Given the description of an element on the screen output the (x, y) to click on. 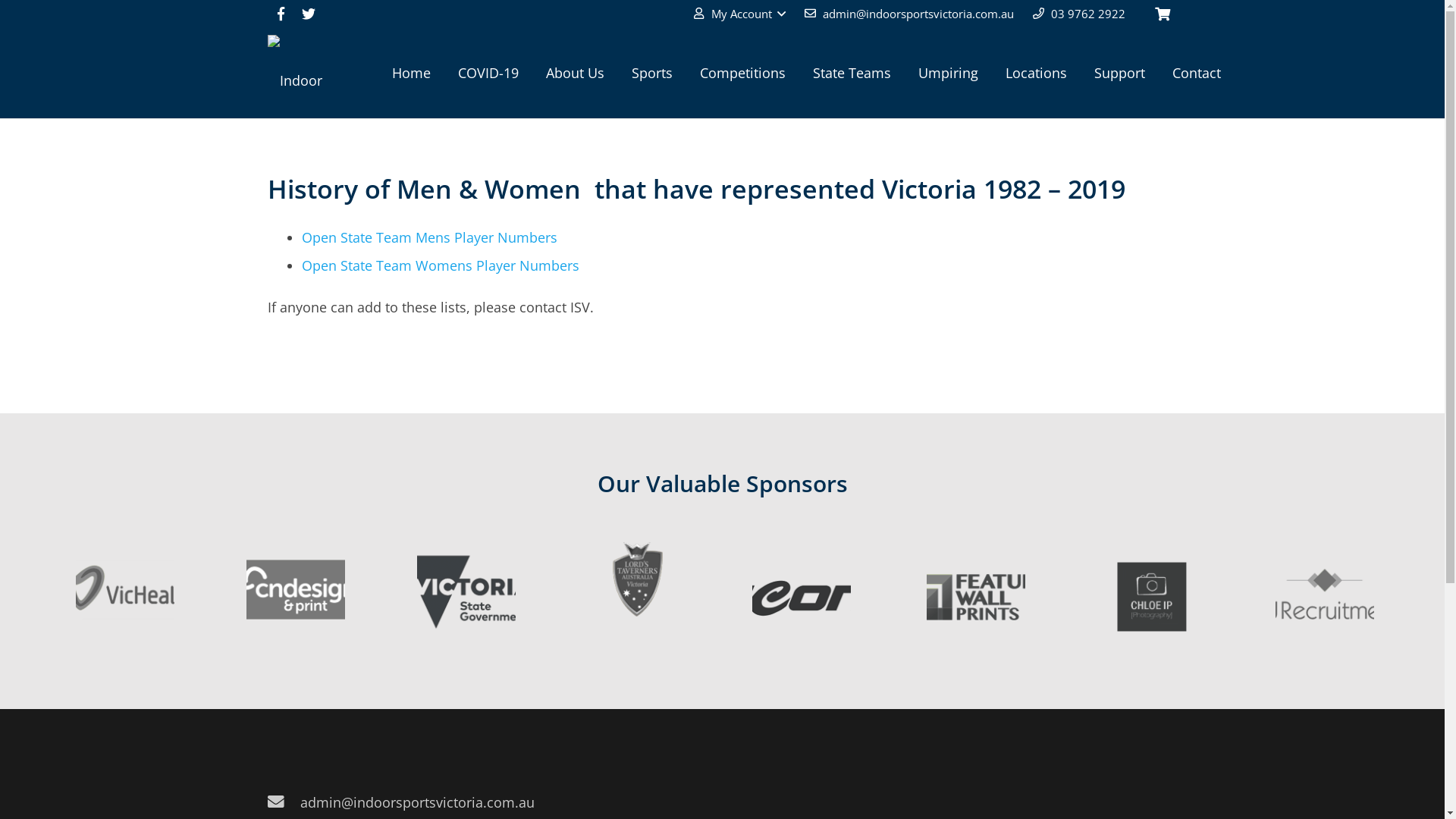
Open State Team Mens Player Numbers Element type: text (429, 237)
Contact Element type: text (1196, 72)
Home Element type: text (411, 72)
State Teams Element type: text (851, 72)
About Us Element type: text (575, 72)
Sports Element type: text (652, 72)
03 9762 2922 Element type: text (1088, 13)
Locations Element type: text (1035, 72)
COVID-19 Element type: text (488, 72)
My Account Element type: text (738, 13)
admin@indoorsportsvictoria.com.au Element type: text (417, 801)
Support Element type: text (1119, 72)
Twitter Element type: hover (307, 13)
Facebook Element type: hover (280, 13)
Umpiring Element type: text (947, 72)
Open State Team Womens Player Numbers Element type: text (440, 265)
Competitions Element type: text (742, 72)
admin@indoorsportsvictoria.com.au Element type: text (917, 13)
